Given the description of an element on the screen output the (x, y) to click on. 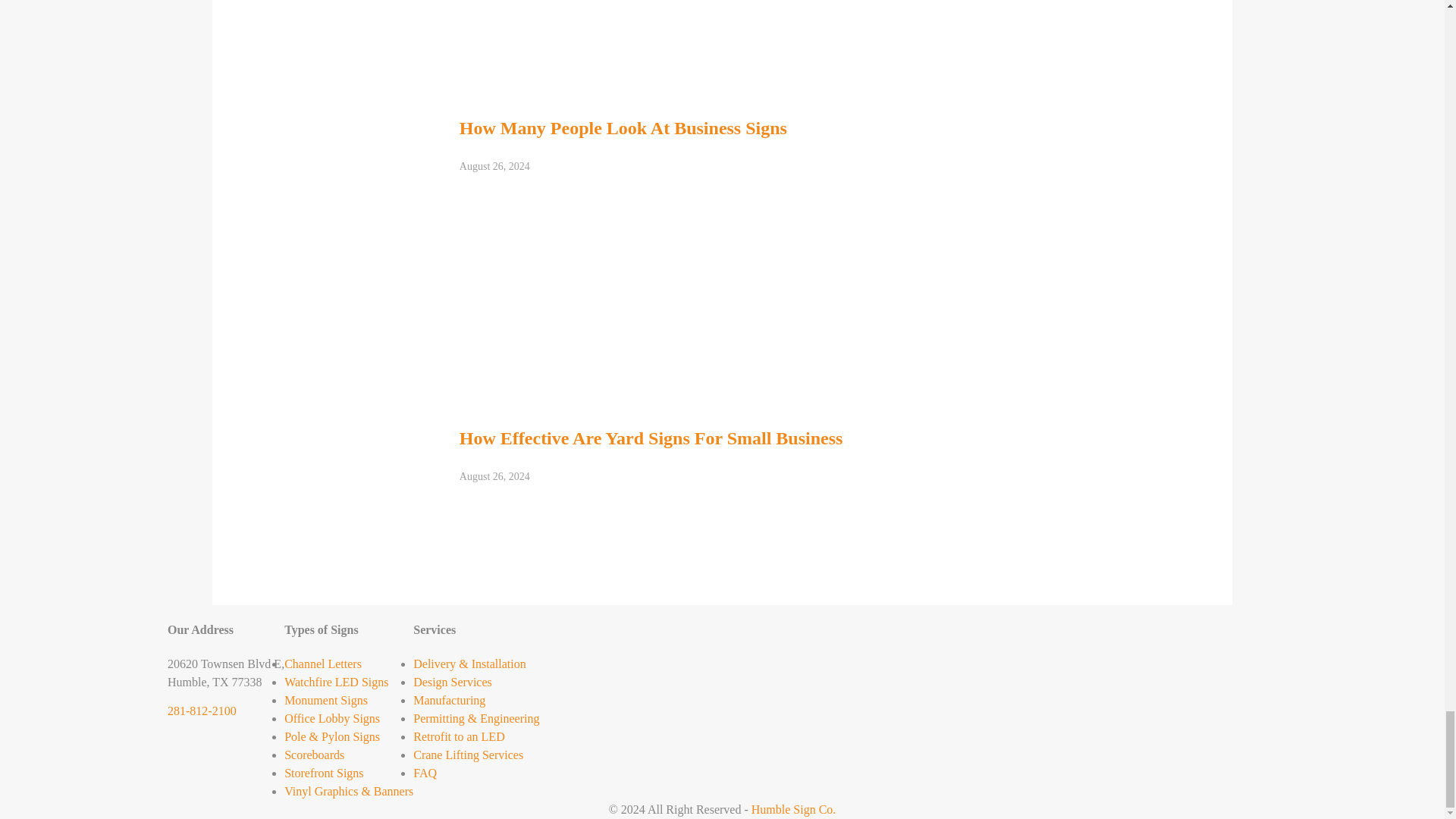
How Many People Look At Business Signs (538, 1)
How Effective Are Yard Signs For Small Business (592, 318)
